Given the description of an element on the screen output the (x, y) to click on. 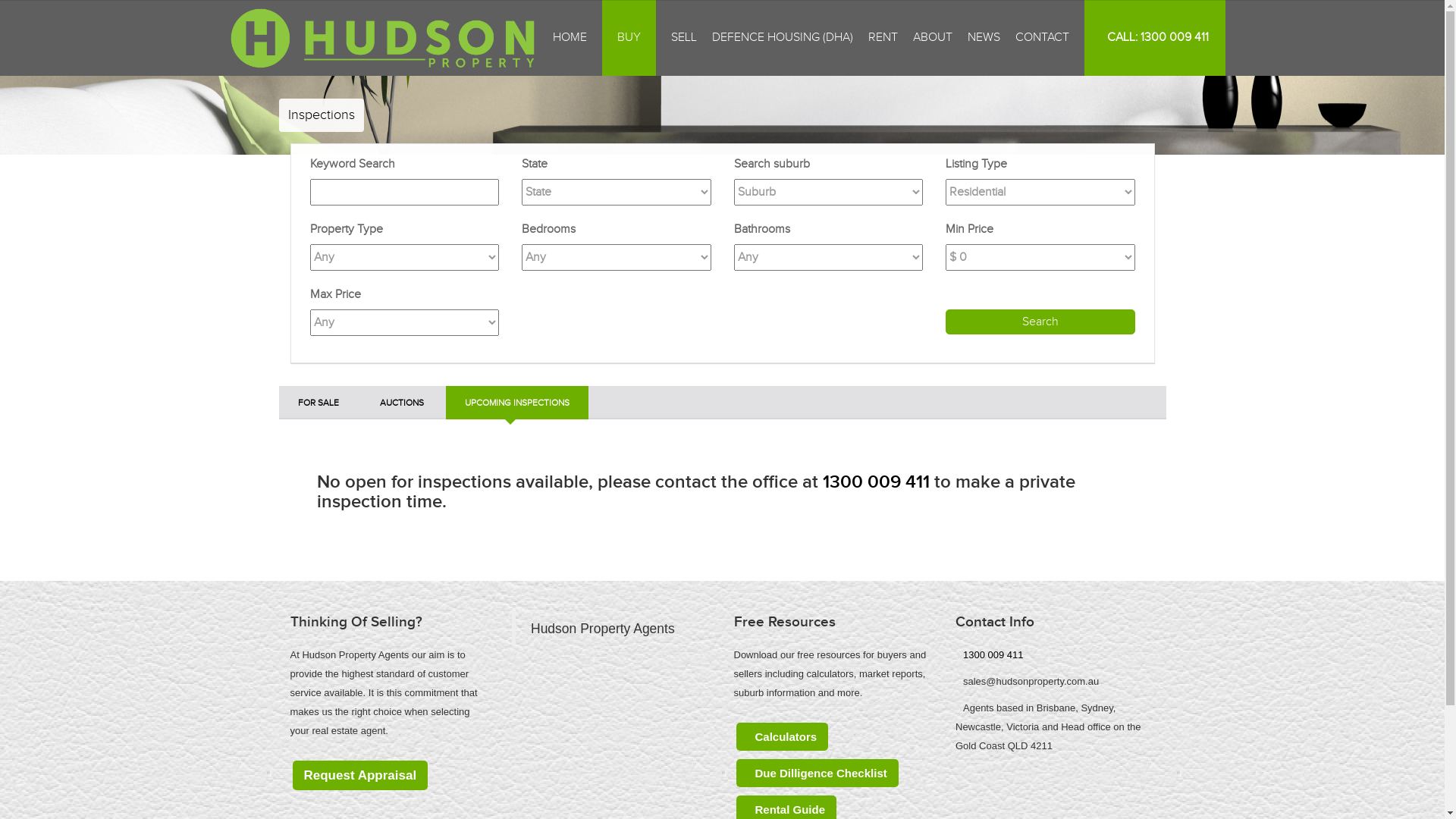
1300 009 411 Element type: text (993, 654)
UPCOMING INSPECTIONS Element type: text (516, 402)
ABOUT Element type: text (932, 37)
AUCTIONS Element type: text (401, 402)
FOR SALE Element type: text (318, 402)
Request Appraisal Element type: text (360, 775)
Due Dilligence Checklist Element type: text (816, 773)
Calculators Element type: text (781, 736)
HOME Element type: text (569, 37)
Hudson Property Agents Element type: text (602, 628)
sales@hudsonproperty.com.au Element type: text (1030, 681)
NEWS Element type: text (983, 37)
BUY Element type: text (628, 37)
CONTACT Element type: text (1042, 37)
RENT Element type: text (882, 37)
DEFENCE HOUSING (DHA) Element type: text (782, 37)
SELL Element type: text (683, 37)
1300 009 411 Element type: text (875, 481)
Search Element type: text (1040, 321)
